Given the description of an element on the screen output the (x, y) to click on. 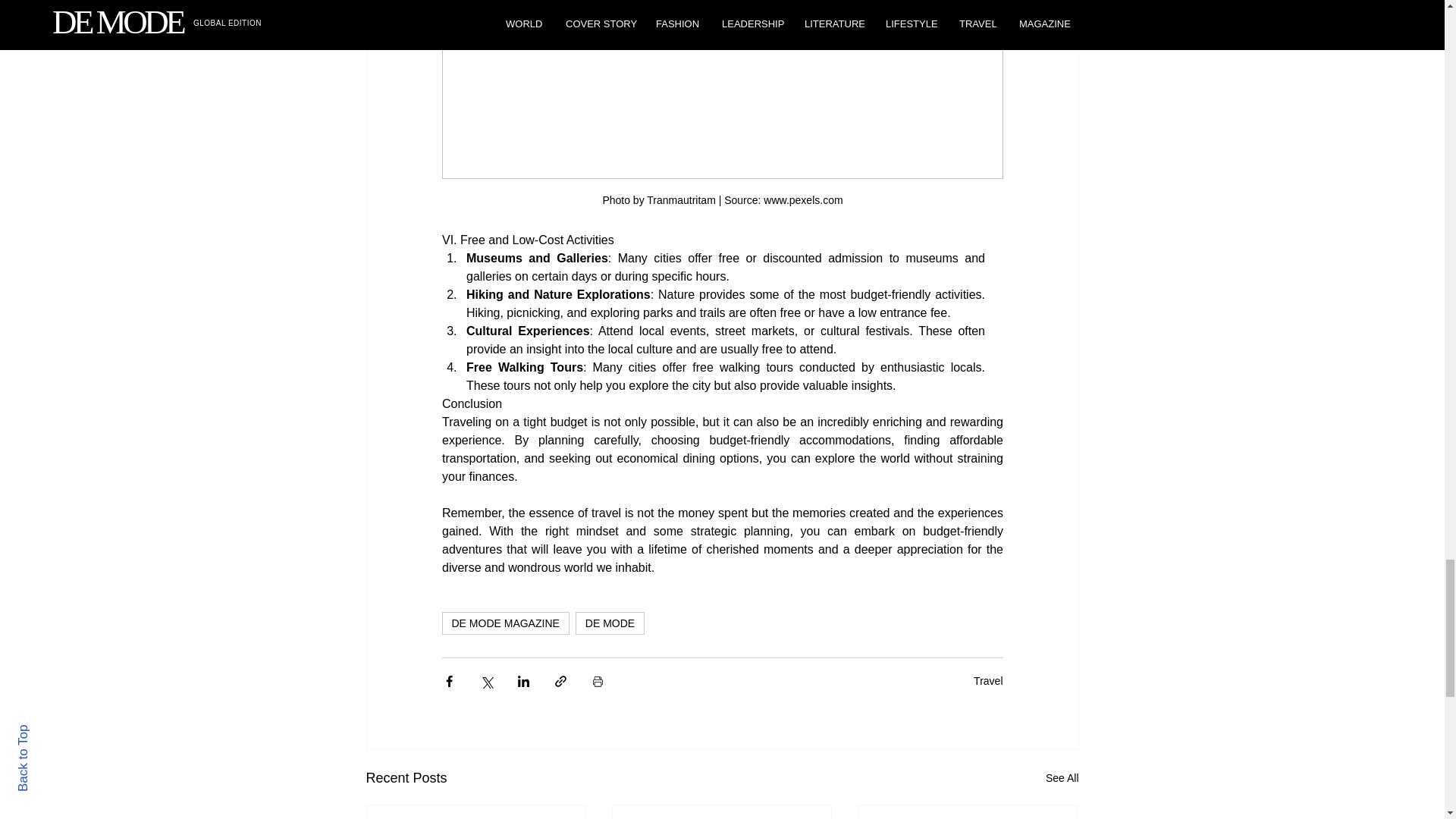
DE MODE (610, 622)
See All (1061, 778)
DE MODE MAGAZINE (505, 622)
Travel (988, 680)
